Given the description of an element on the screen output the (x, y) to click on. 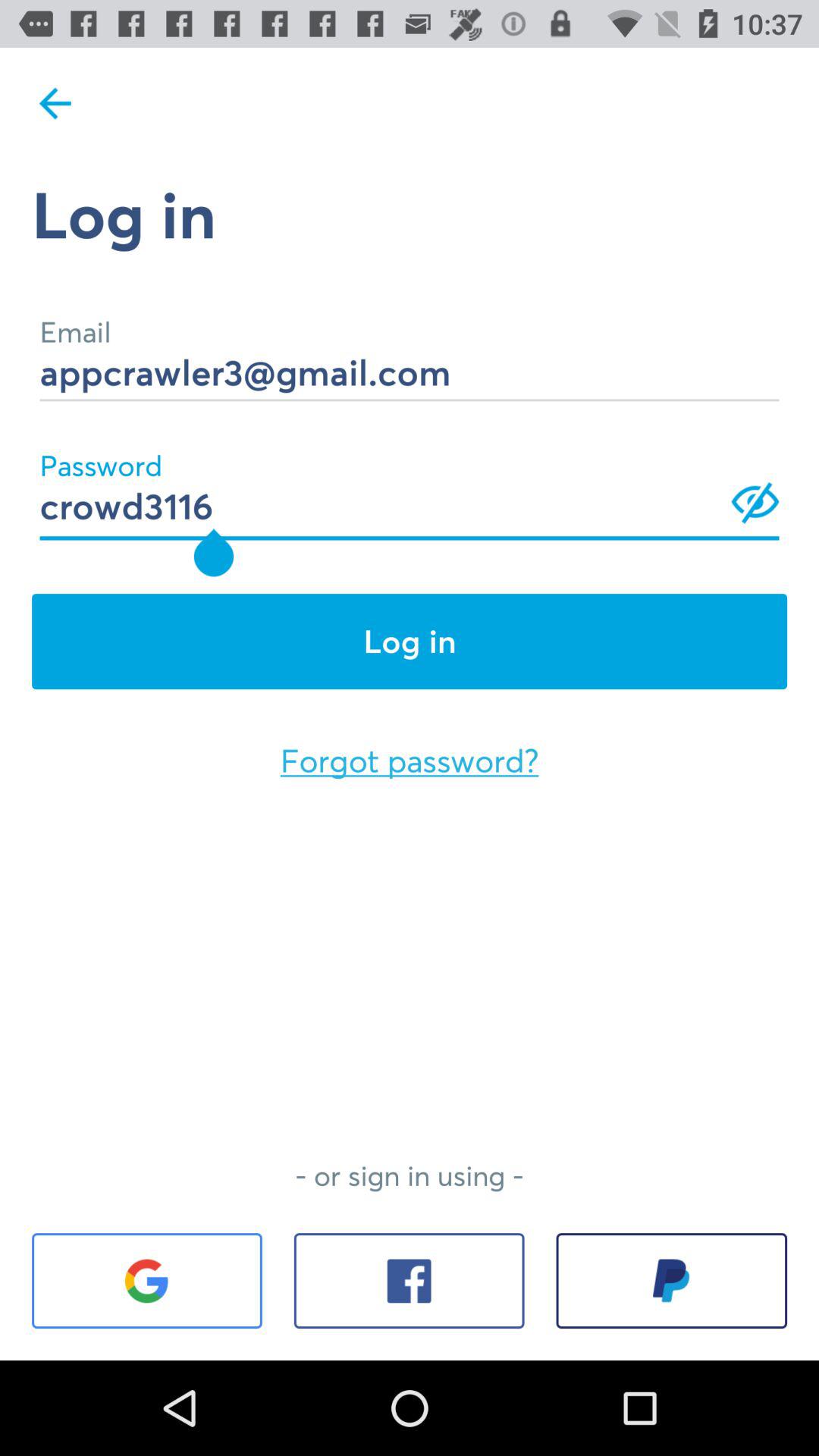
turn on item at the bottom left corner (146, 1280)
